Given the description of an element on the screen output the (x, y) to click on. 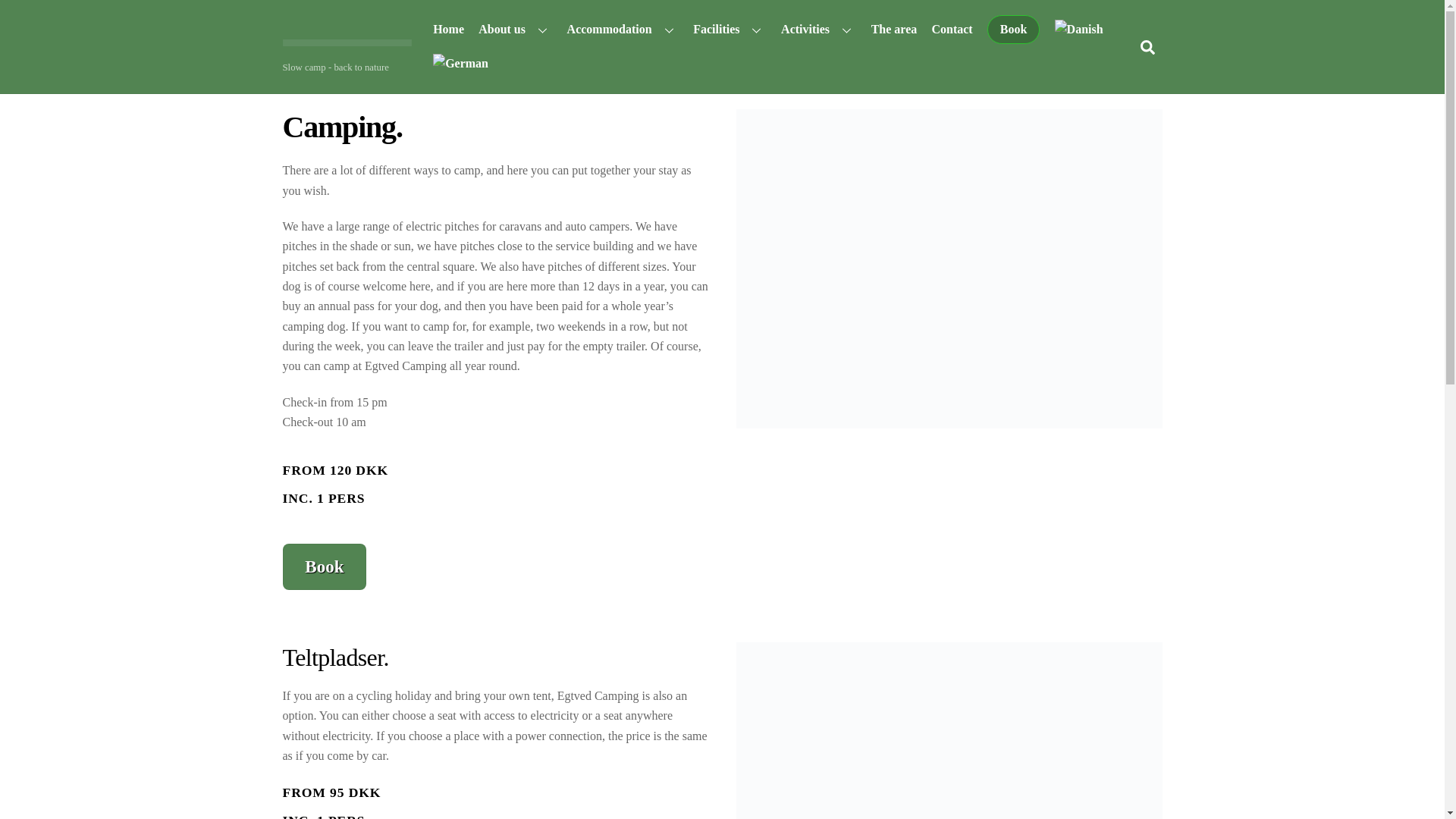
About us (515, 29)
Accommodation (622, 29)
Book (324, 566)
Book (1014, 29)
Contact (951, 29)
Activities (818, 29)
Egtved Camping (346, 38)
The area (893, 29)
Home (448, 29)
Facilities (729, 29)
Search (1146, 46)
